Given the description of an element on the screen output the (x, y) to click on. 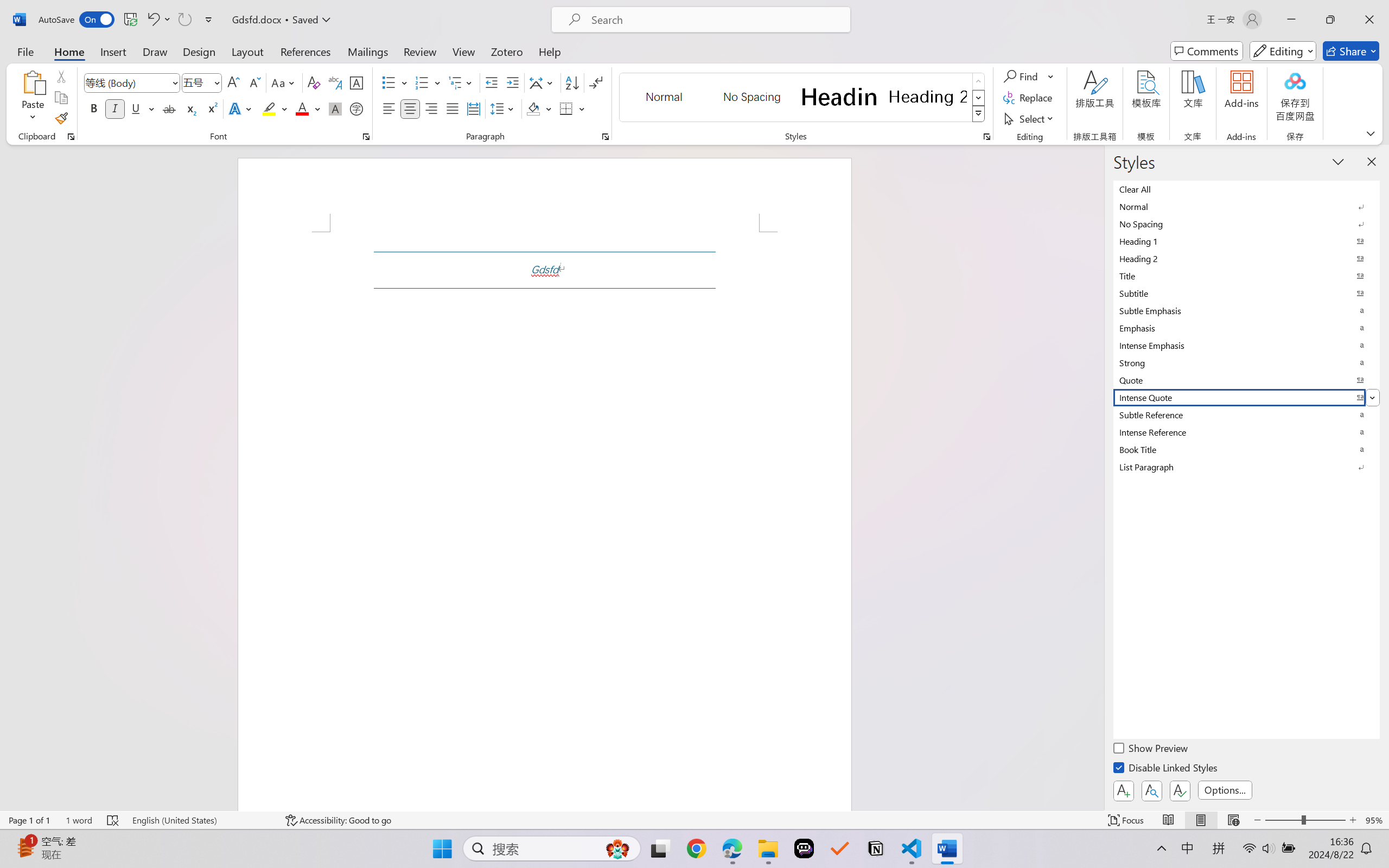
Spelling and Grammar Check Errors (113, 819)
Enclose Characters... (356, 108)
Class: MsoCommandBar (694, 819)
Replace... (1029, 97)
Emphasis (1246, 327)
Title (1246, 275)
Undo Style (152, 19)
